Given the description of an element on the screen output the (x, y) to click on. 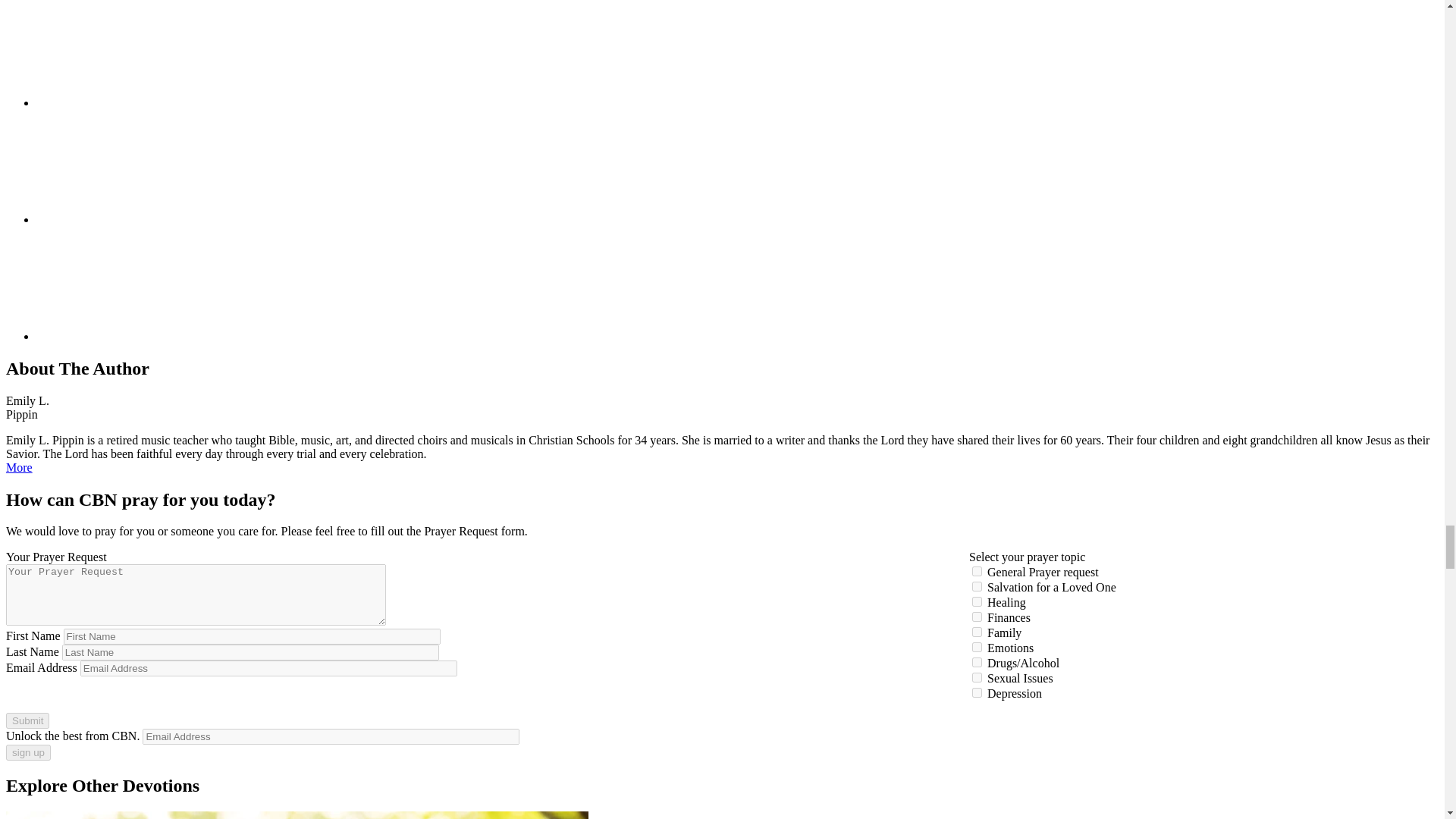
healing (976, 601)
emotions (976, 646)
family (976, 632)
Link (149, 336)
finances (976, 616)
Mail (149, 219)
sign up (27, 752)
Submit (27, 720)
depression (976, 692)
Twitter (149, 102)
